Given the description of an element on the screen output the (x, y) to click on. 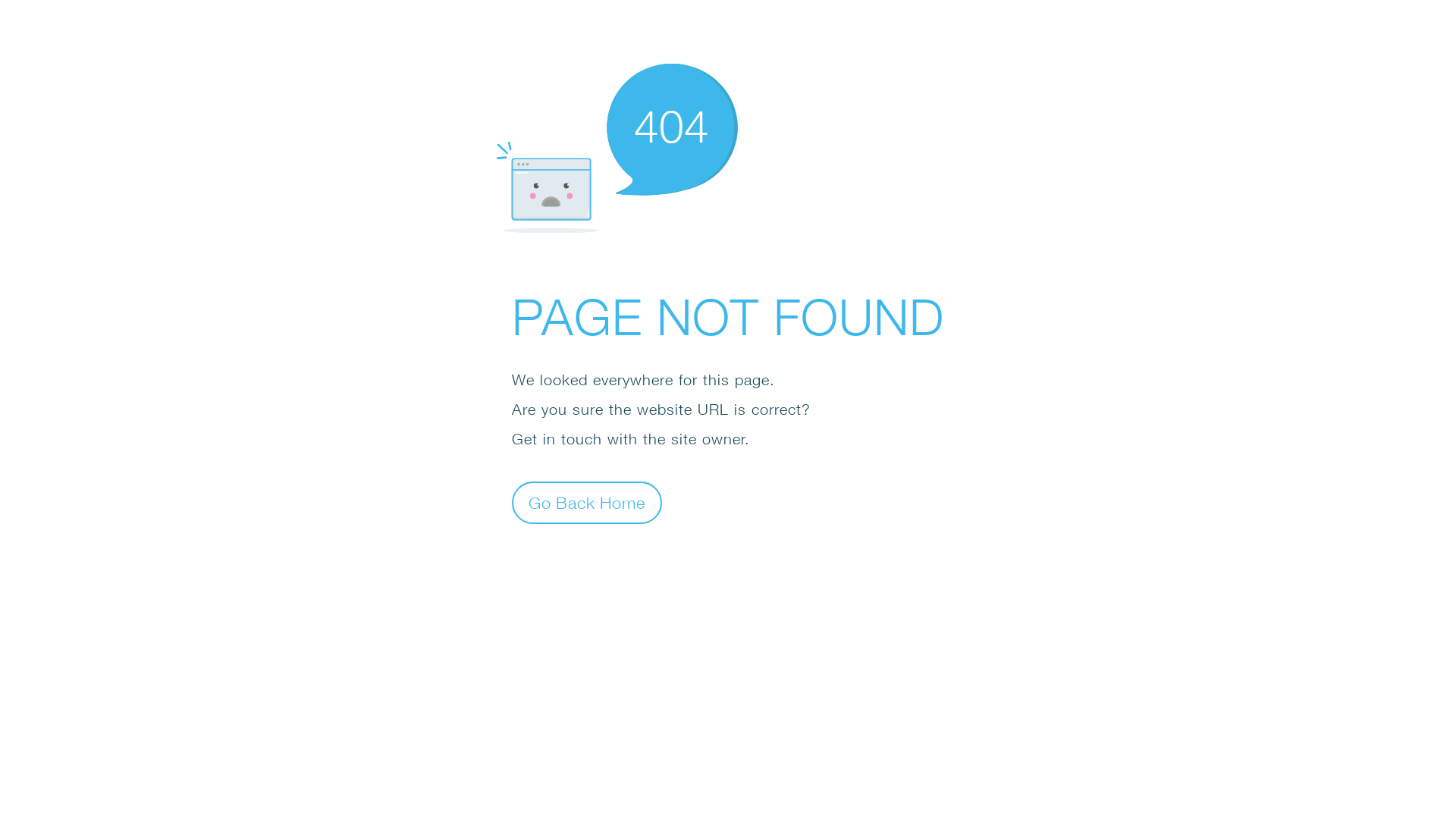
Go Back Home Element type: text (586, 502)
